Given the description of an element on the screen output the (x, y) to click on. 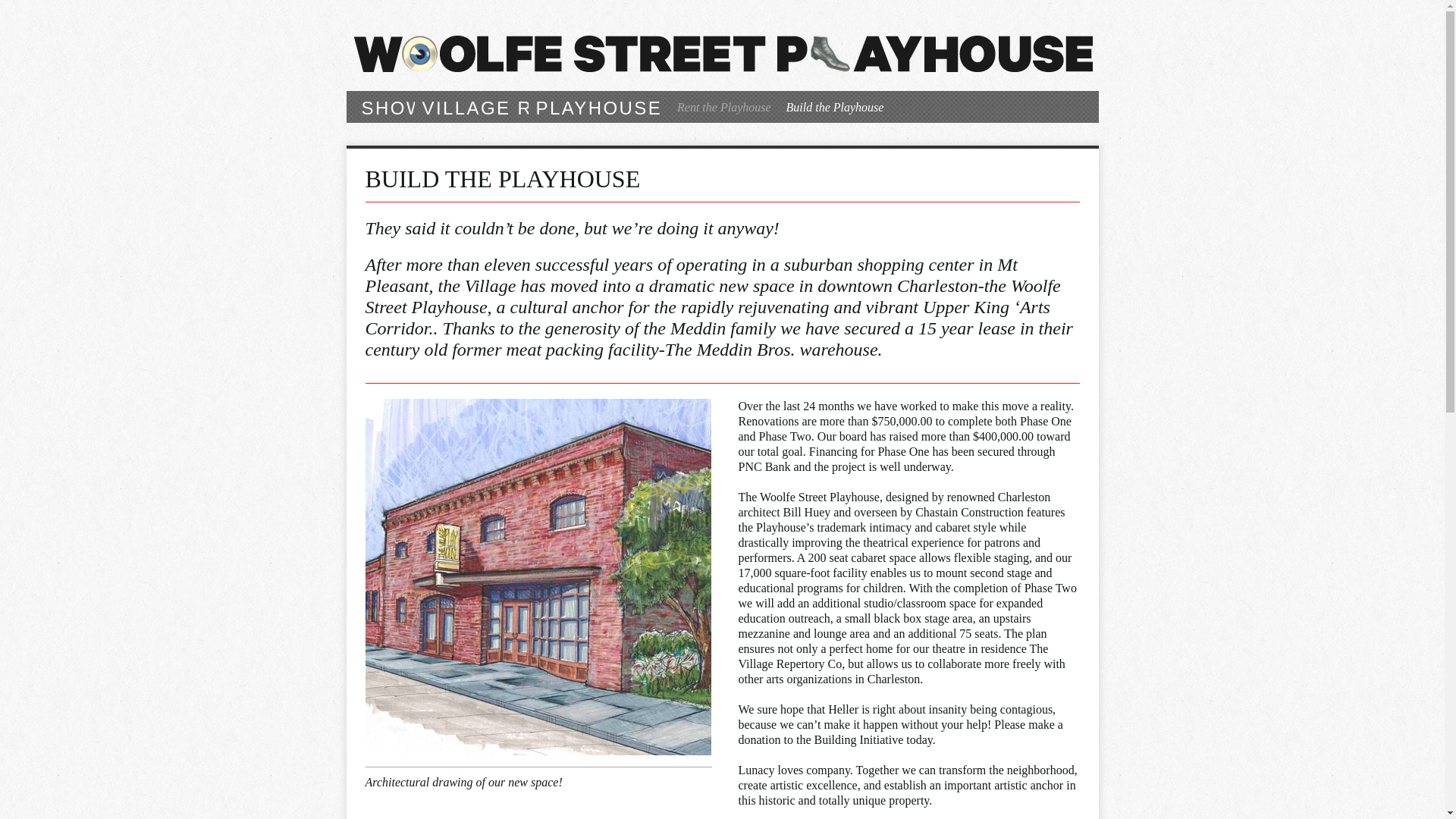
Build the Playhouse (834, 107)
Rent the Playhouse (723, 107)
SHOWS (399, 108)
PLAYHOUSE (598, 108)
Woolfe Street Playhouse (721, 53)
VILLAGE REP CO. (512, 108)
